Given the description of an element on the screen output the (x, y) to click on. 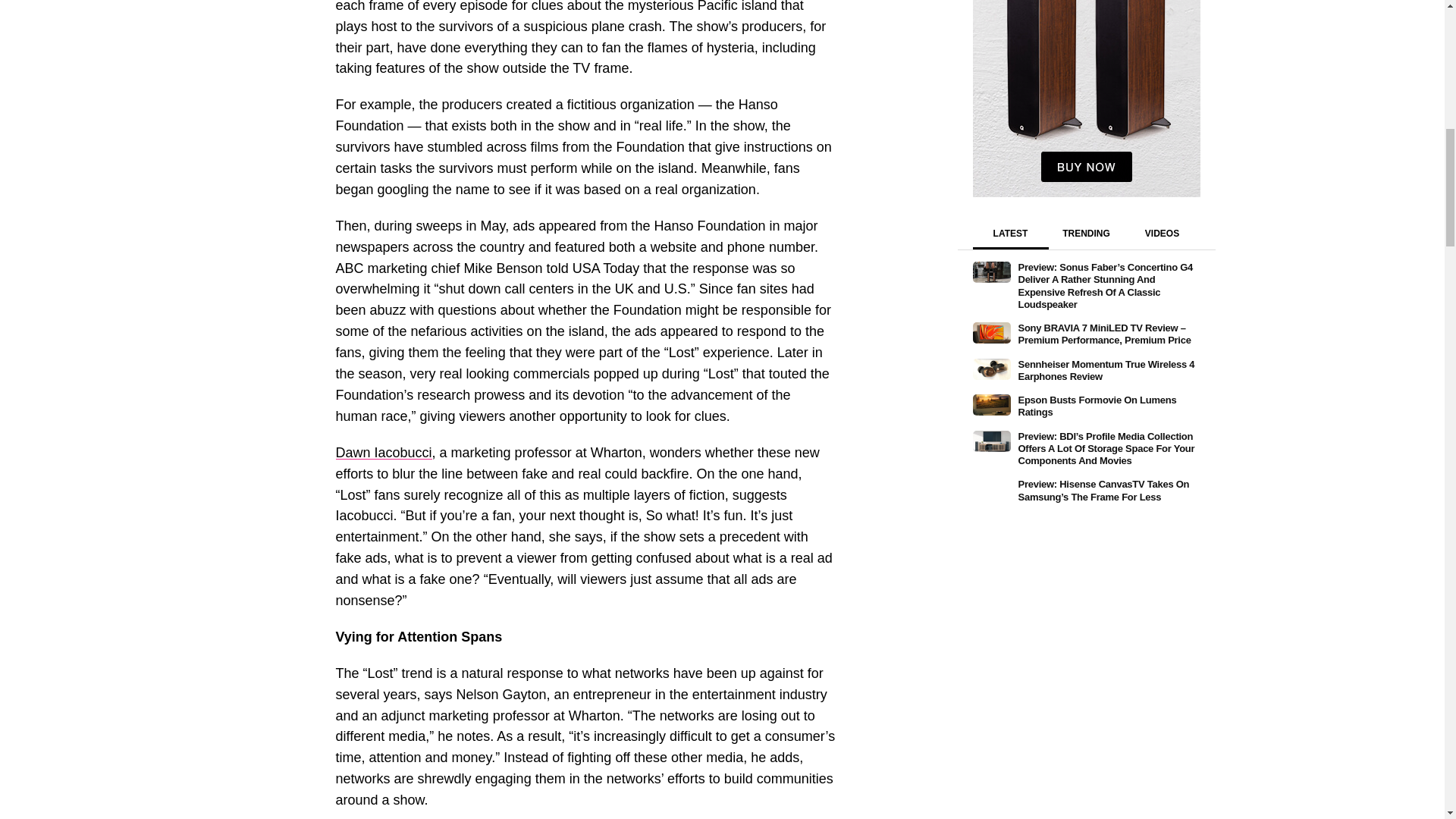
3rd party ad content (1085, 98)
